Given the description of an element on the screen output the (x, y) to click on. 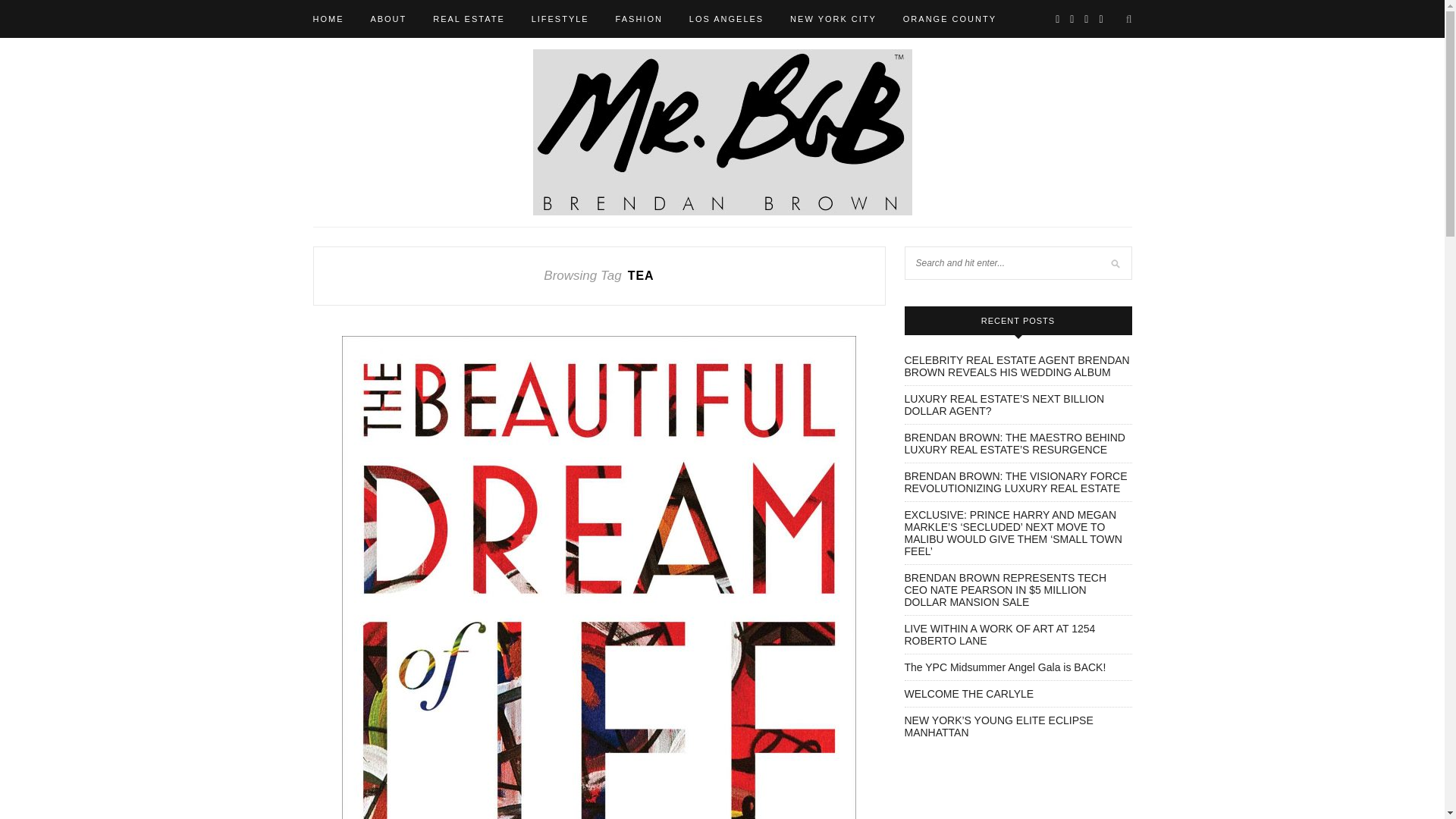
FASHION (638, 18)
ABOUT (387, 18)
REAL ESTATE (468, 18)
ORANGE COUNTY (948, 18)
LIFESTYLE (560, 18)
NEW YORK CITY (833, 18)
LOS ANGELES (725, 18)
